Given the description of an element on the screen output the (x, y) to click on. 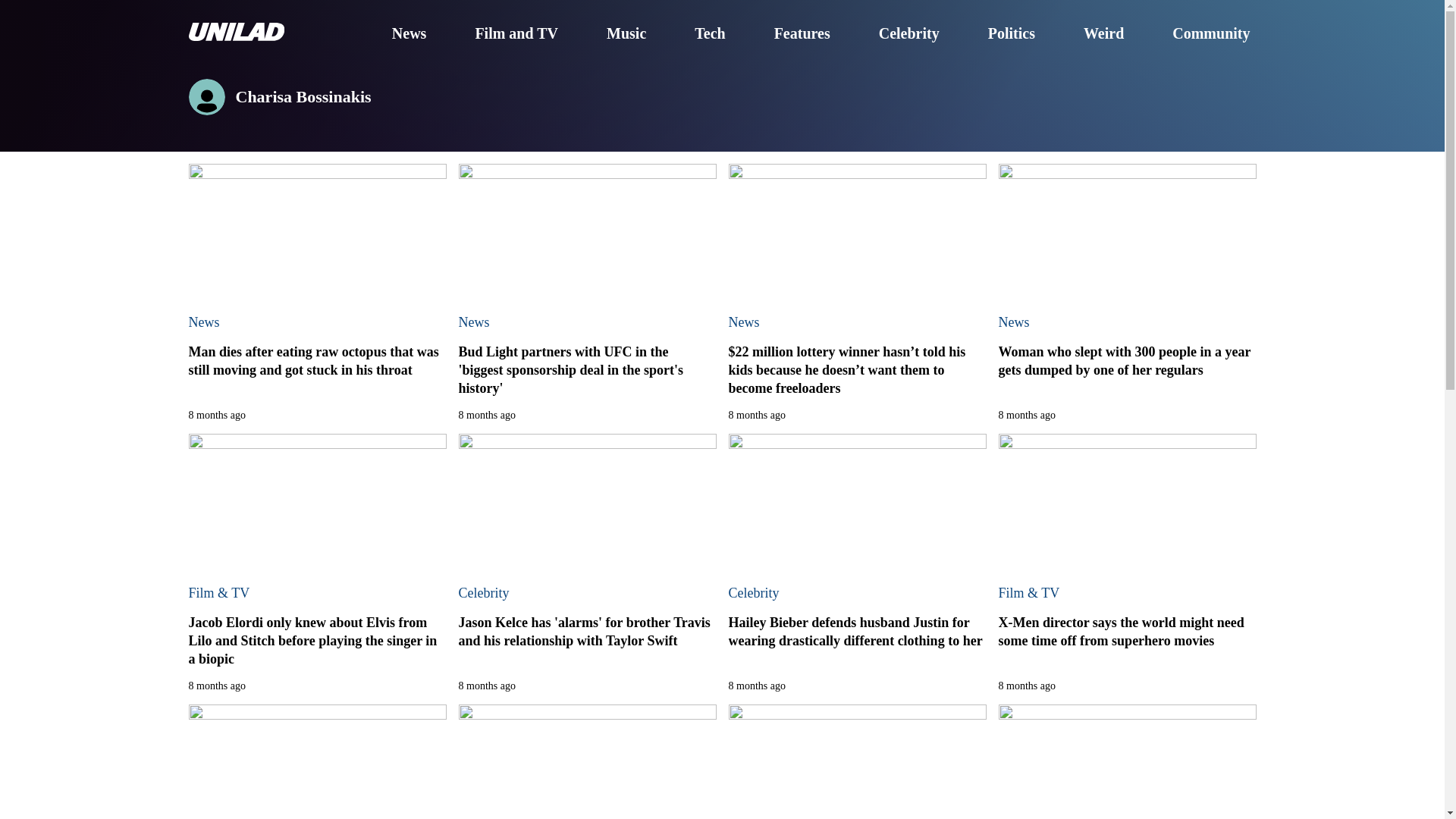
Features (801, 34)
News (473, 322)
Film and TV (515, 34)
Community (1210, 34)
Celebrity (909, 34)
News (203, 322)
Celebrity (483, 593)
News (408, 34)
Music (626, 34)
News (1013, 322)
